Given the description of an element on the screen output the (x, y) to click on. 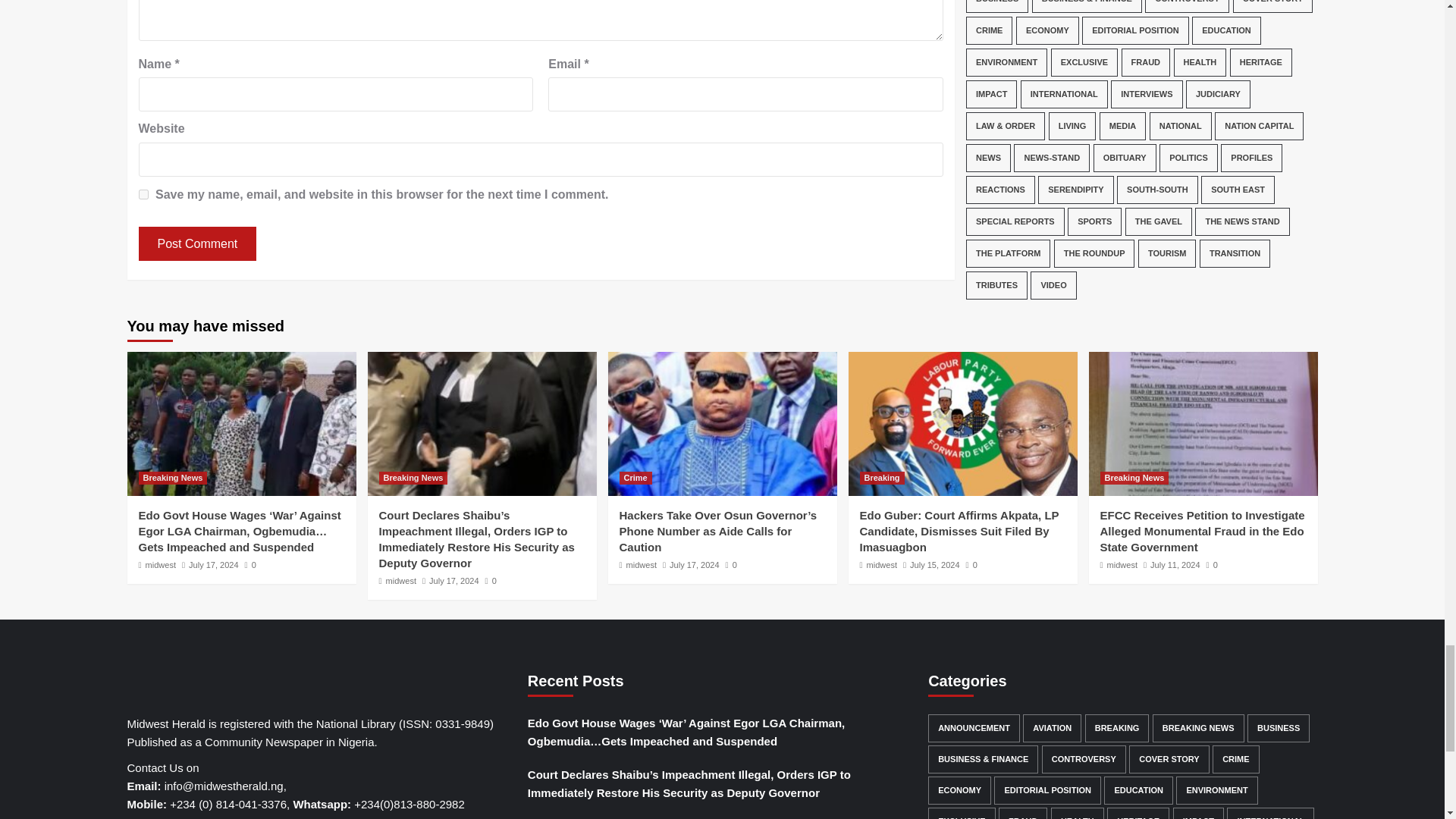
Post Comment (197, 243)
yes (143, 194)
